Given the description of an element on the screen output the (x, y) to click on. 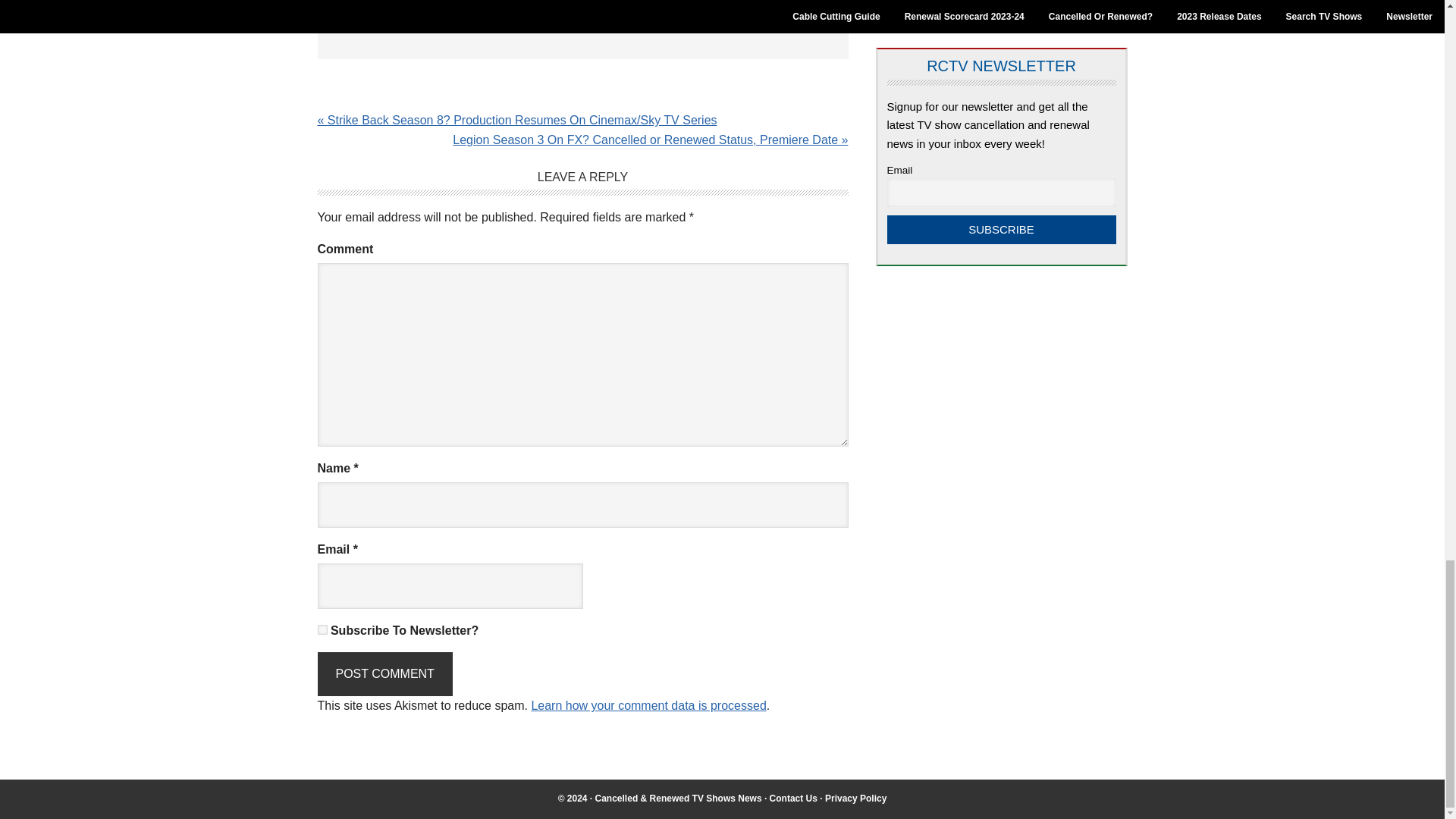
Post Comment (384, 673)
RenewCancelTV (678, 798)
Subscribe (1001, 229)
1 (321, 629)
Cancelled Or Renewed? (956, 4)
